Given the description of an element on the screen output the (x, y) to click on. 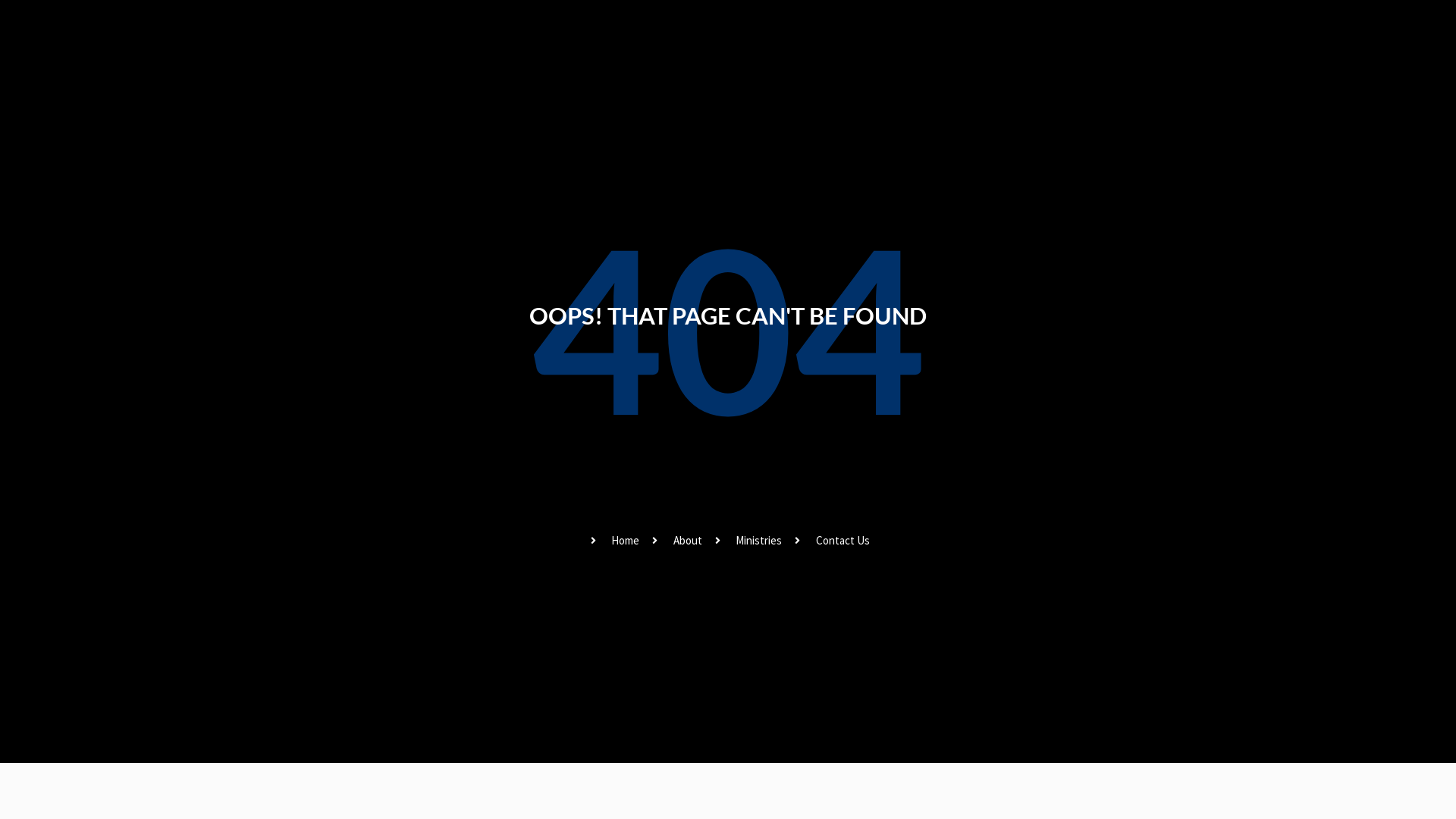
About Element type: text (675, 540)
Ministries Element type: text (746, 540)
Home Element type: text (613, 540)
Contact Us Element type: text (829, 540)
